Given the description of an element on the screen output the (x, y) to click on. 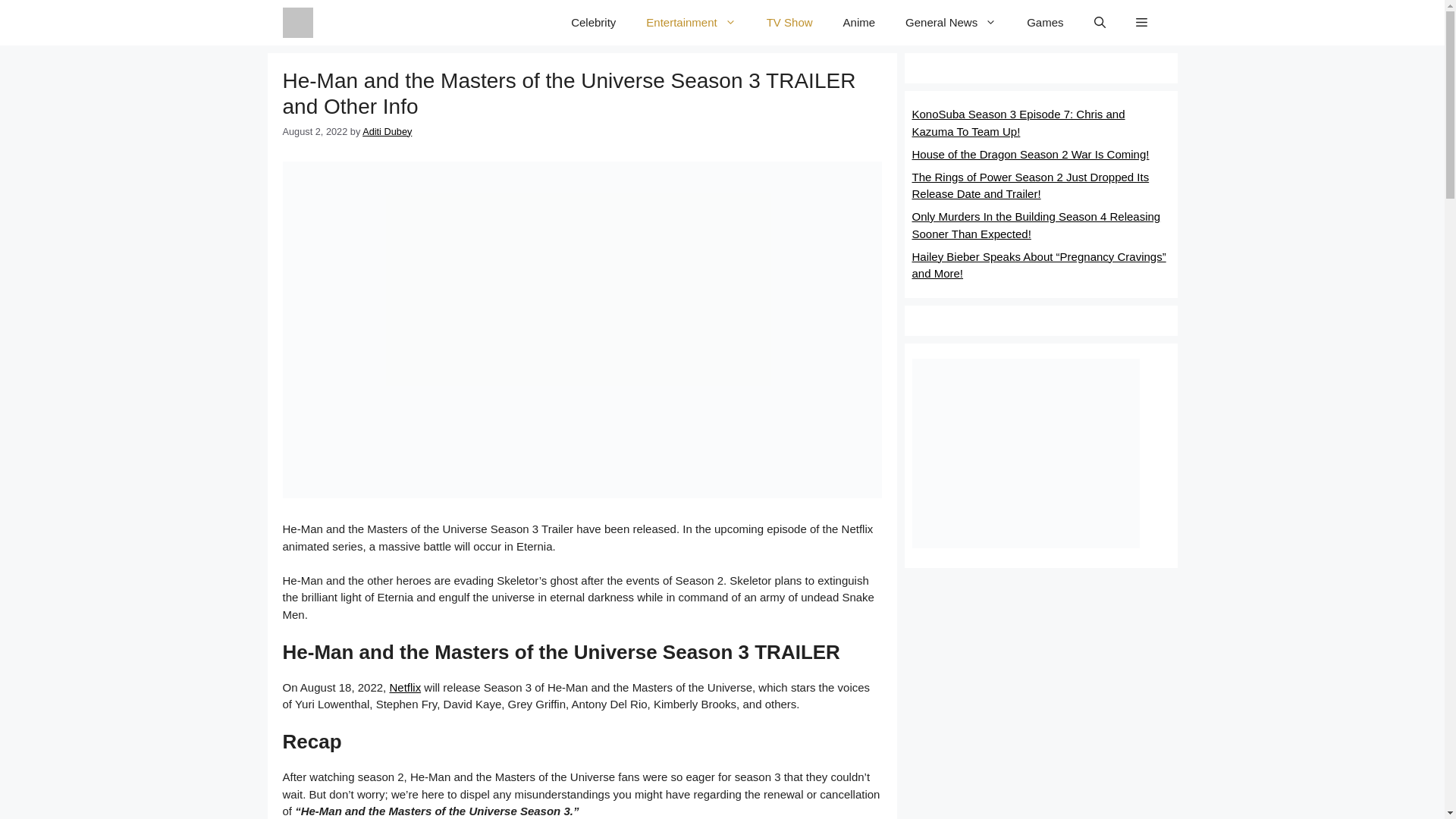
TV Show (789, 22)
Games (1044, 22)
Aditi Dubey (387, 131)
General News (950, 22)
Entertainment (690, 22)
Celebrity (593, 22)
Anime (859, 22)
View all posts by Aditi Dubey (387, 131)
